Given the description of an element on the screen output the (x, y) to click on. 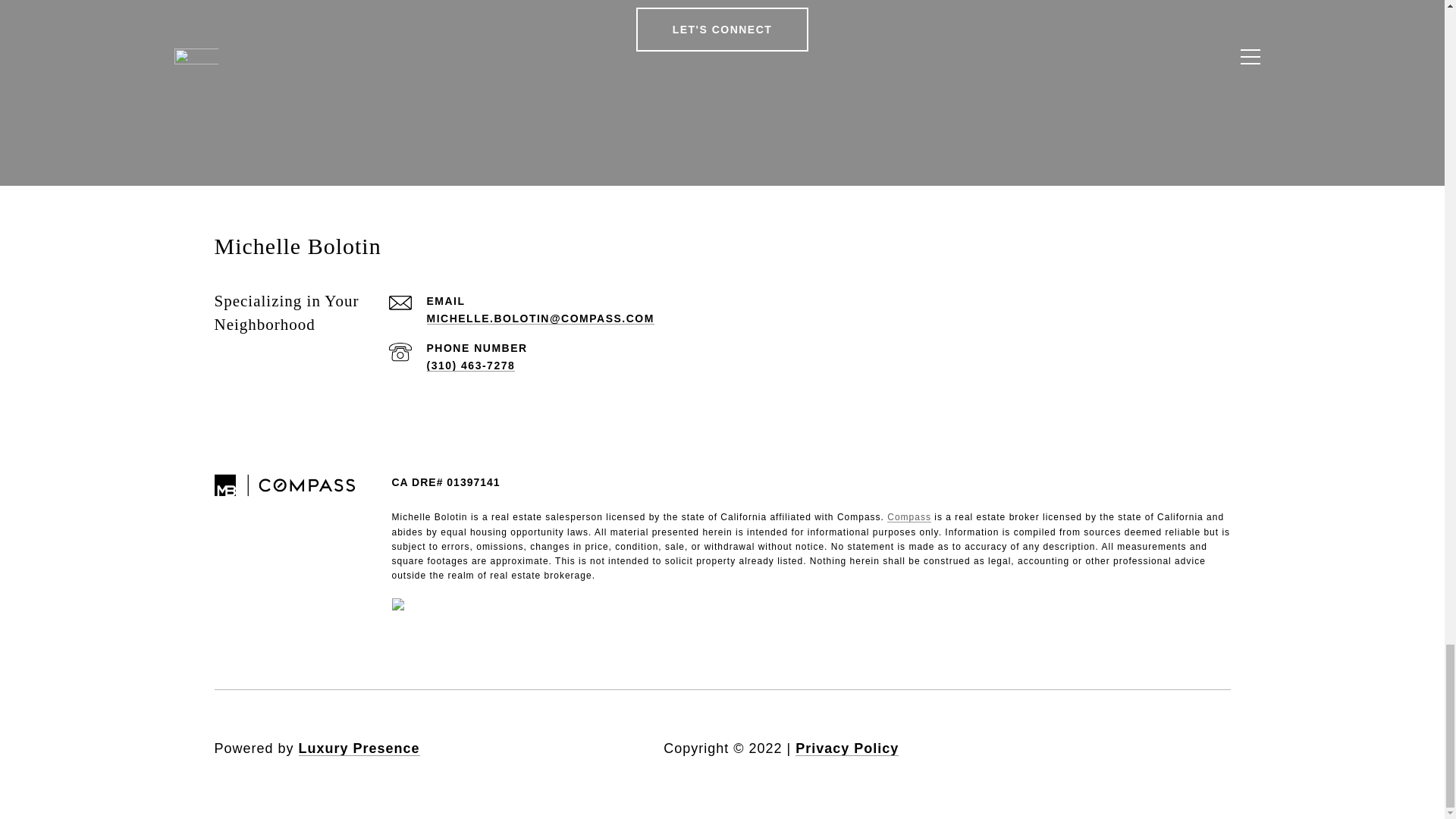
LET'S CONNECT (722, 29)
